Given the description of an element on the screen output the (x, y) to click on. 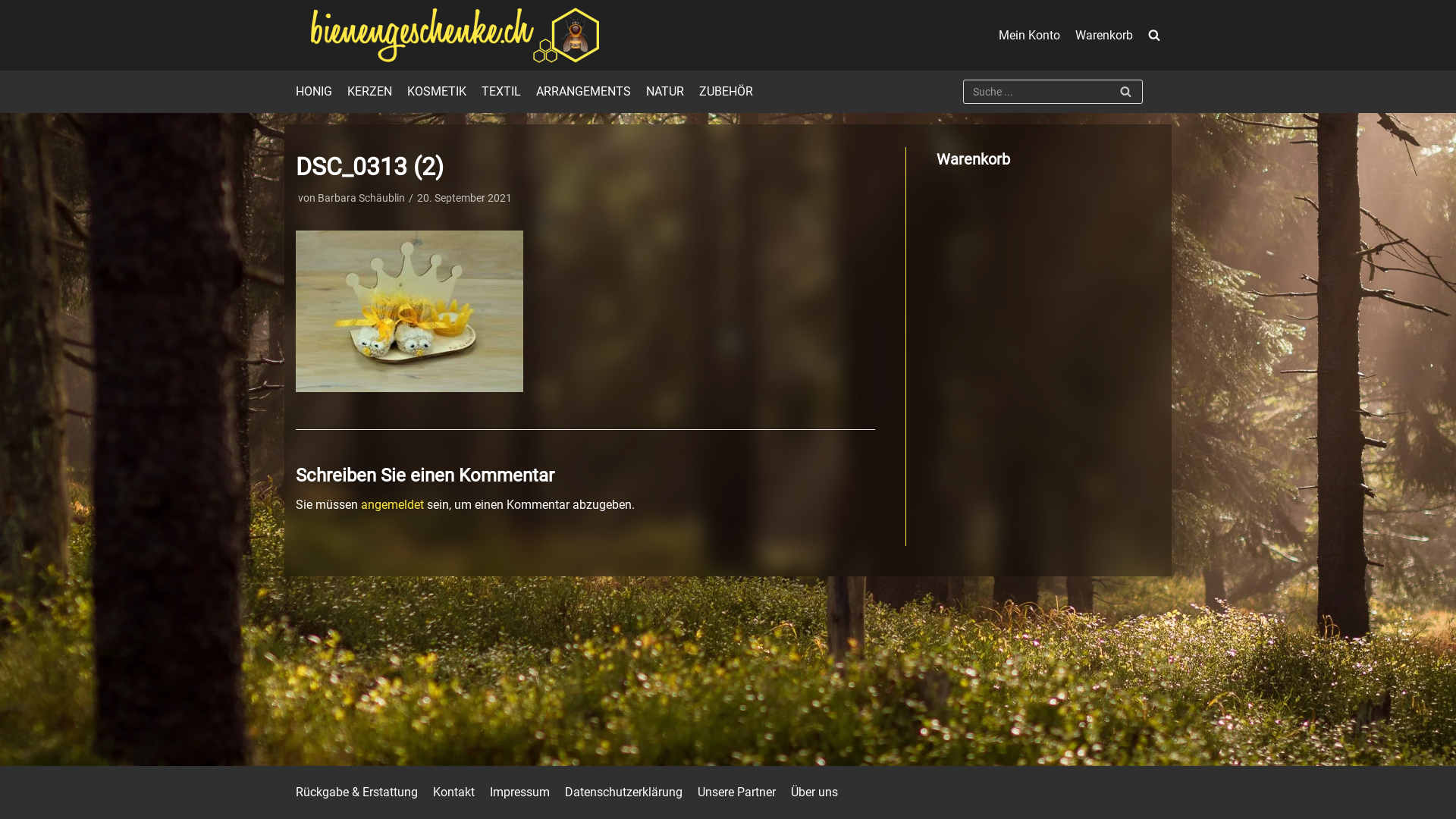
TEXTIL Element type: text (500, 91)
Unsere Partner Element type: text (736, 792)
HONIG Element type: text (313, 91)
Impressum Element type: text (519, 792)
angemeldet Element type: text (391, 504)
Kontakt Element type: text (453, 792)
KOSMETIK Element type: text (436, 91)
ARRANGEMENTS Element type: text (583, 91)
NATUR Element type: text (665, 91)
KERZEN Element type: text (369, 91)
Zum Inhalt Element type: text (15, 7)
Warenkorb Element type: text (1103, 35)
bienengeschenke.ch Element type: hover (447, 34)
Mein Konto Element type: text (1029, 35)
